Given the description of an element on the screen output the (x, y) to click on. 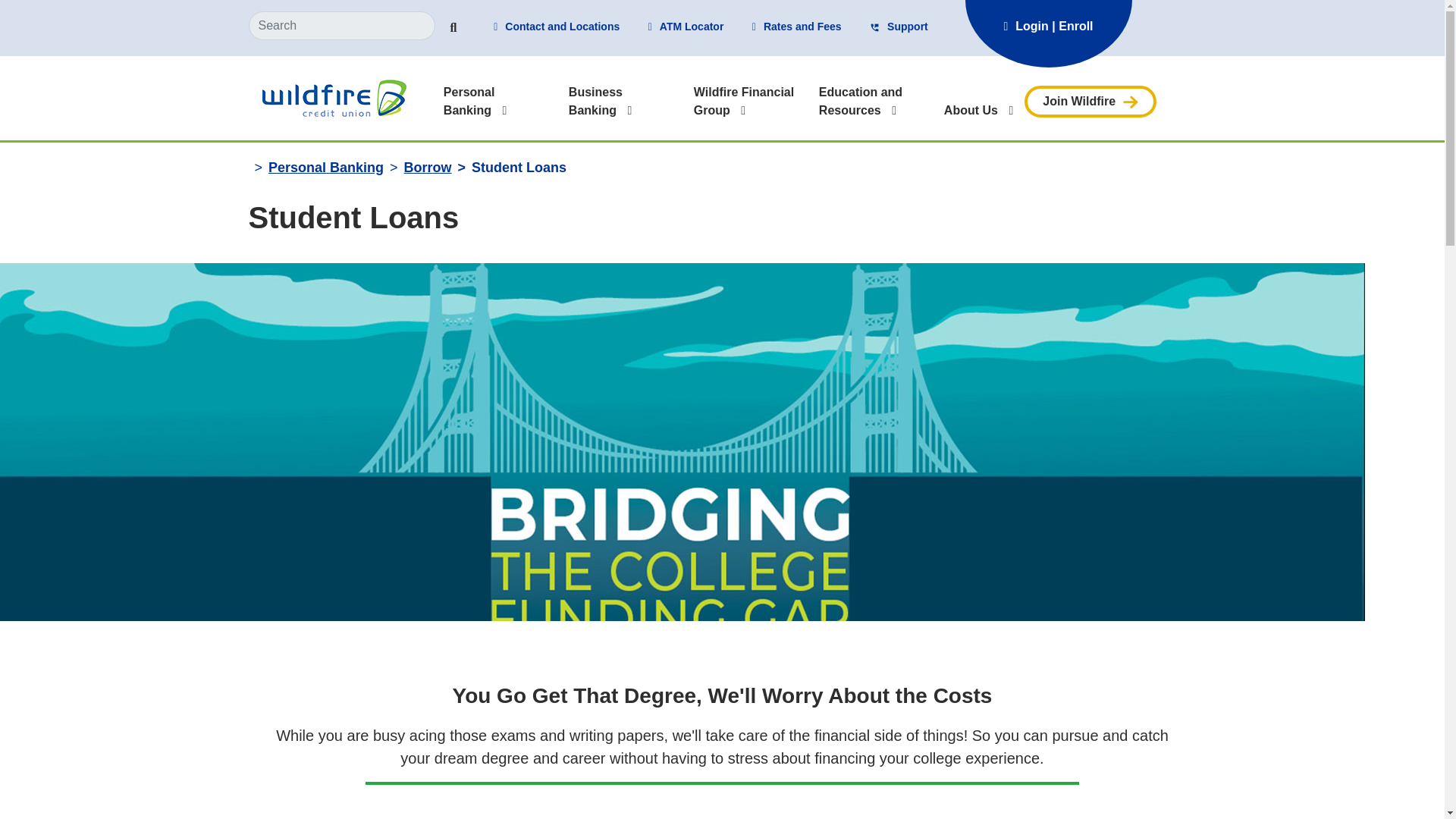
Support (898, 26)
Tap or click to go to online application (1090, 101)
Search input (341, 25)
Contact and Locations (556, 26)
Rates and Fees (796, 26)
ATM Locator (685, 26)
Personal Banking (469, 101)
